Given the description of an element on the screen output the (x, y) to click on. 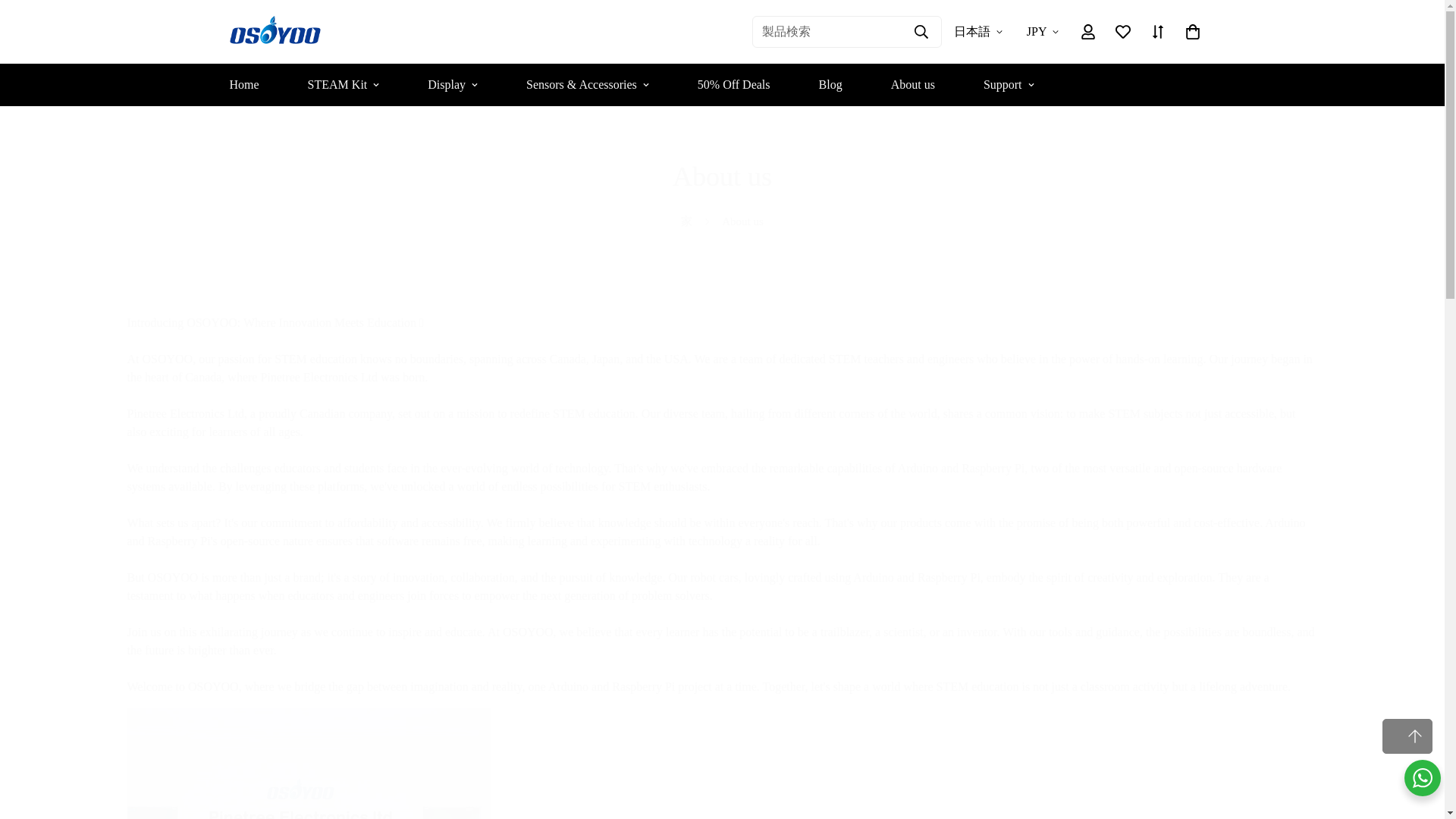
OSOYOO.Store (274, 31)
